Given the description of an element on the screen output the (x, y) to click on. 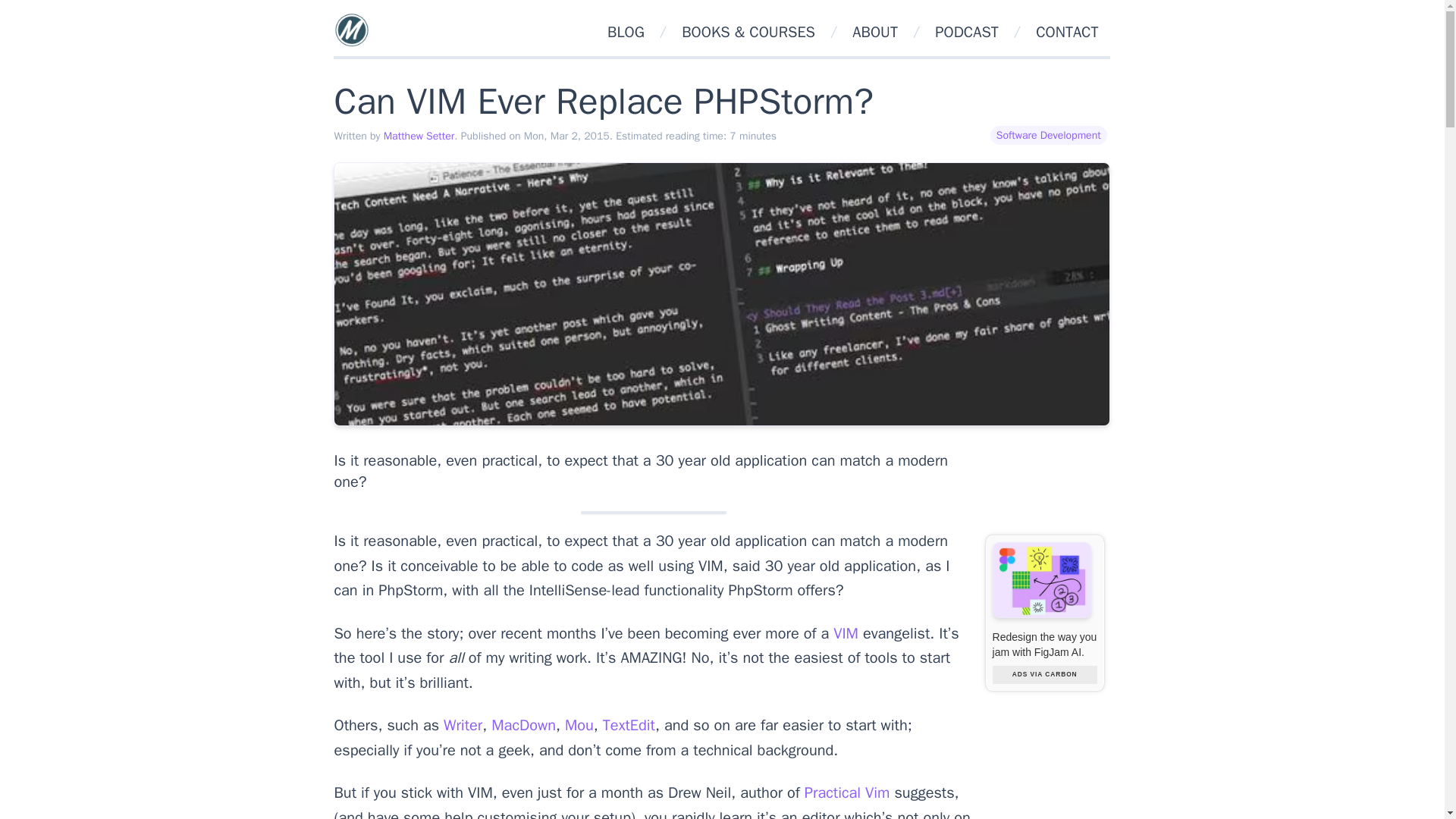
Matthew Setter (419, 135)
MacDown (524, 724)
Matthew Setter: Home (351, 29)
TextEdit (628, 724)
BLOG (625, 31)
Mou (579, 724)
Writer (462, 724)
